Given the description of an element on the screen output the (x, y) to click on. 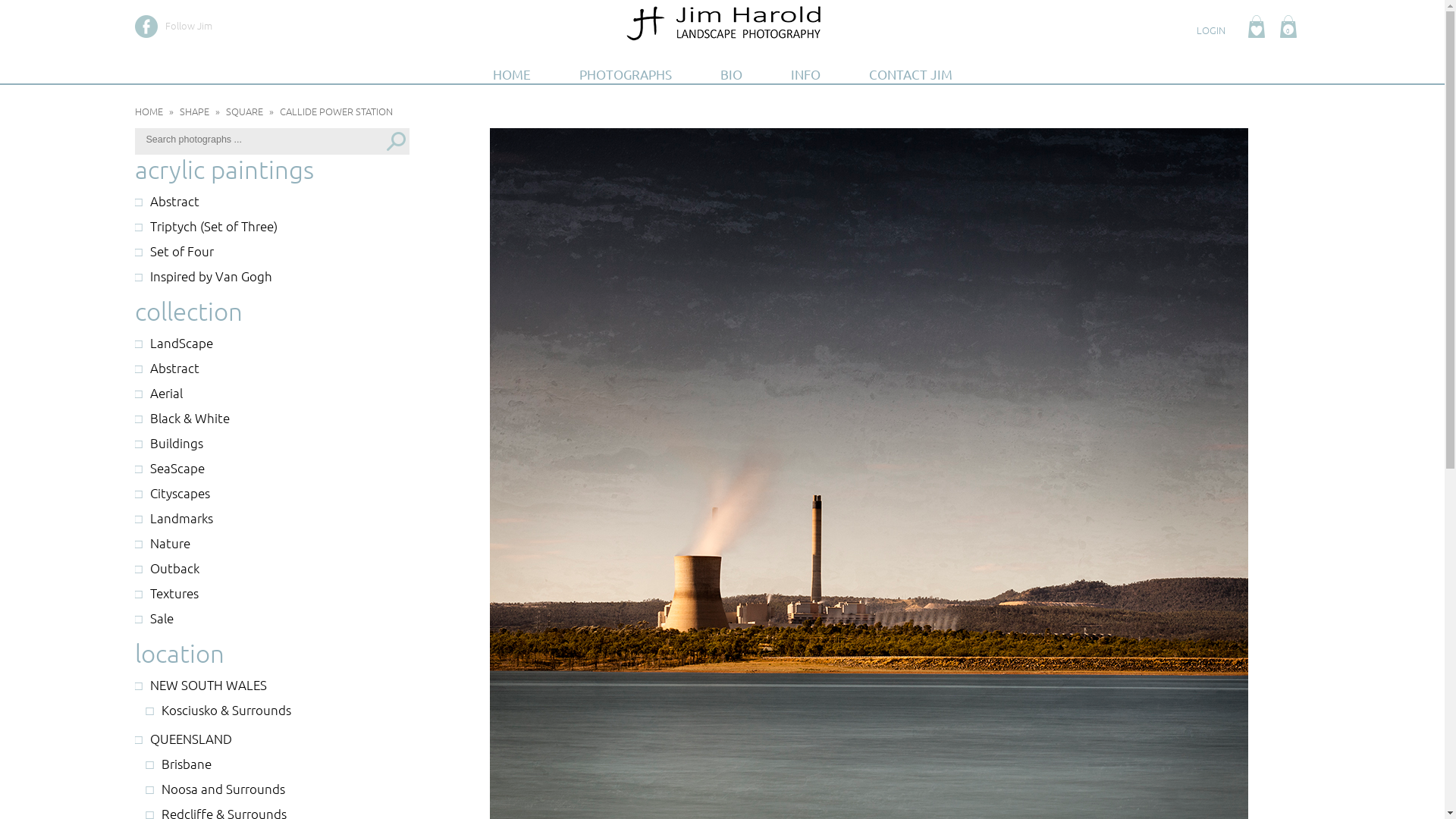
  Element type: text (1256, 26)
INFO Element type: text (804, 73)
HOME Element type: text (511, 73)
Sale Element type: text (272, 618)
location Element type: text (179, 653)
SHAPE Element type: text (193, 110)
Black & White Element type: text (272, 417)
Landmarks Element type: text (272, 518)
Buildings Element type: text (272, 442)
collection Element type: text (188, 310)
Textures Element type: text (272, 592)
Nature Element type: text (272, 542)
Abstract Element type: text (272, 201)
Inspired by Van Gogh Element type: text (272, 275)
Kosciusko & Surrounds Element type: text (277, 709)
SeaScape Element type: text (272, 467)
acrylic paintings Element type: text (223, 169)
Set of Four Element type: text (272, 251)
Triptych (Set of Three) Element type: text (272, 225)
Outback Element type: text (272, 568)
LandScape Element type: text (272, 342)
LOGIN Element type: text (1210, 29)
Aerial Element type: text (272, 392)
Noosa and Surrounds Element type: text (277, 788)
Brisbane Element type: text (277, 763)
Search Element type: text (395, 140)
BIO Element type: text (731, 73)
Cityscapes Element type: text (272, 492)
  Element type: text (145, 26)
HOME Element type: text (148, 110)
NEW SOUTH WALES Element type: text (272, 684)
Abstract Element type: text (272, 367)
PHOTOGRAPHS Element type: text (625, 73)
SQUARE Element type: text (244, 110)
0 Element type: text (1295, 30)
CONTACT JIM Element type: text (910, 73)
Search for: Element type: hover (205, 138)
QUEENSLAND Element type: text (272, 737)
